Given the description of an element on the screen output the (x, y) to click on. 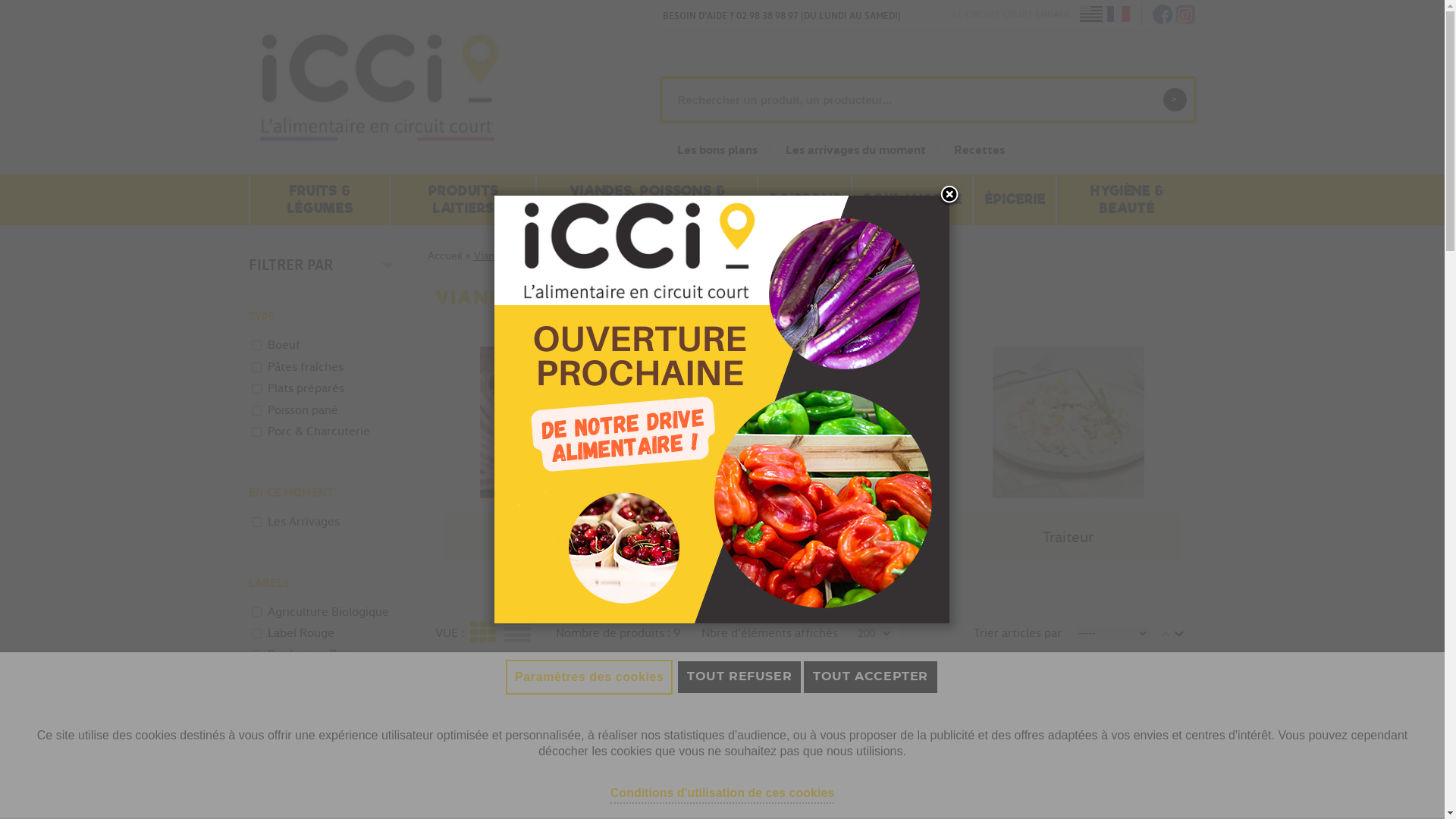
Accueil Element type: text (444, 255)
Les arrivages du moment Element type: text (862, 148)
> Element type: text (1174, 99)
BOULANGERIE Element type: text (911, 199)
Conditions d'utilisation de ces cookies Element type: text (722, 792)
Traiteur Element type: hover (1067, 422)
croissant Element type: hover (1165, 633)
Traiteur Element type: text (1068, 536)
Viandes Element type: text (555, 536)
Poissons Element type: hover (811, 422)
Viandes Element type: hover (554, 422)
TOUT ACCEPTER Element type: text (870, 676)
BOISSONS Element type: text (804, 199)
Les bons plans Element type: text (723, 148)
Recettes Element type: text (978, 148)
PRODUITS LAITIERS Element type: text (462, 199)
VIANDES, POISSONS & TRAITEUR Element type: text (646, 199)
TOUT REFUSER Element type: text (739, 676)
Poissons Element type: text (812, 536)
